Given the description of an element on the screen output the (x, y) to click on. 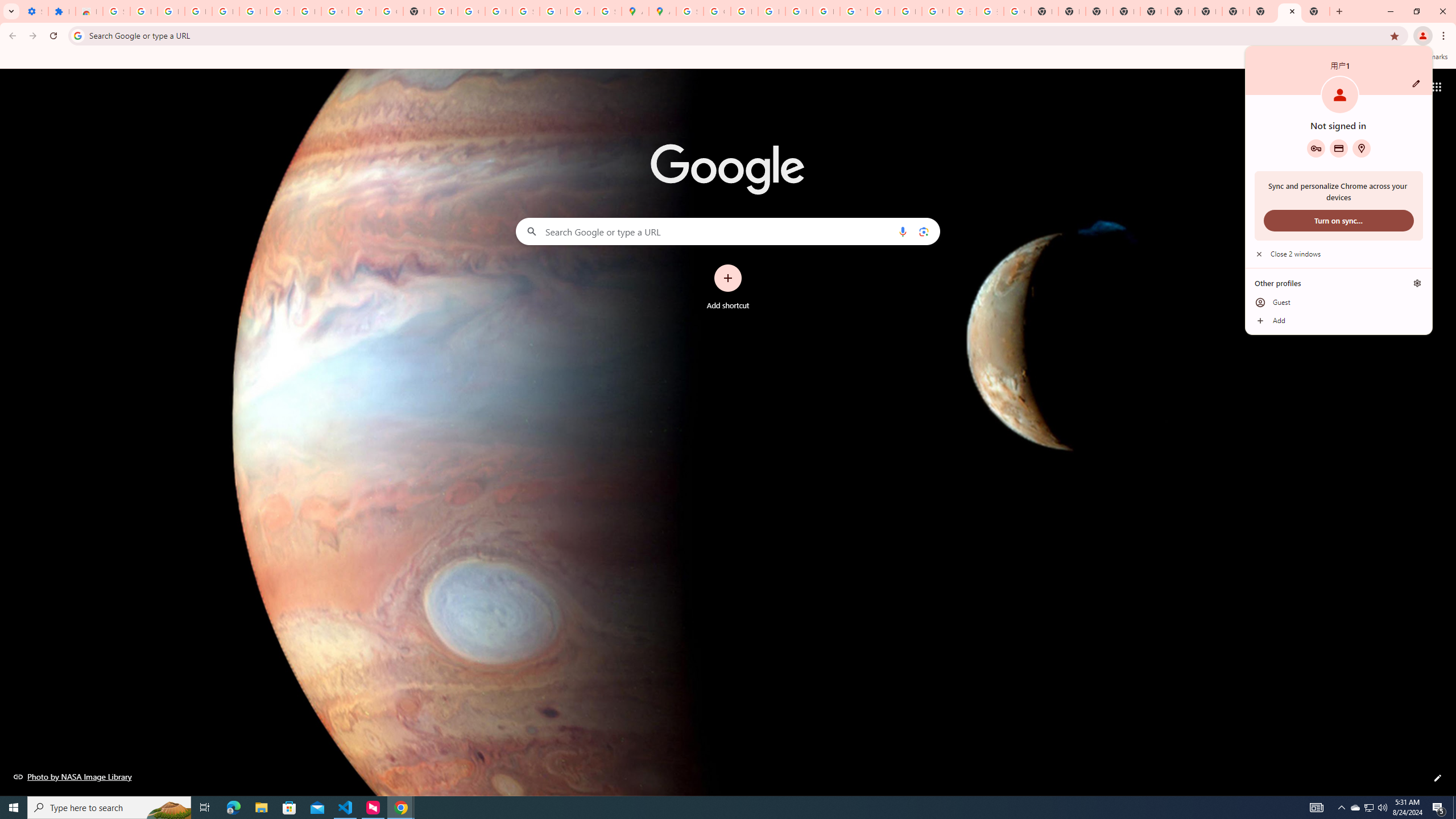
Browse Chrome as a guest - Computer - Google Chrome Help (880, 11)
https://scholar.google.com/ (444, 11)
Forward (32, 35)
Show desktop (1454, 807)
Guest (1338, 302)
Running applications (717, 807)
Privacy Help Center - Policies Help (743, 11)
Address and search bar (735, 35)
Q2790: 100% (1382, 807)
Manage profiles (1417, 283)
Search by image (922, 230)
YouTube (362, 11)
